Given the description of an element on the screen output the (x, y) to click on. 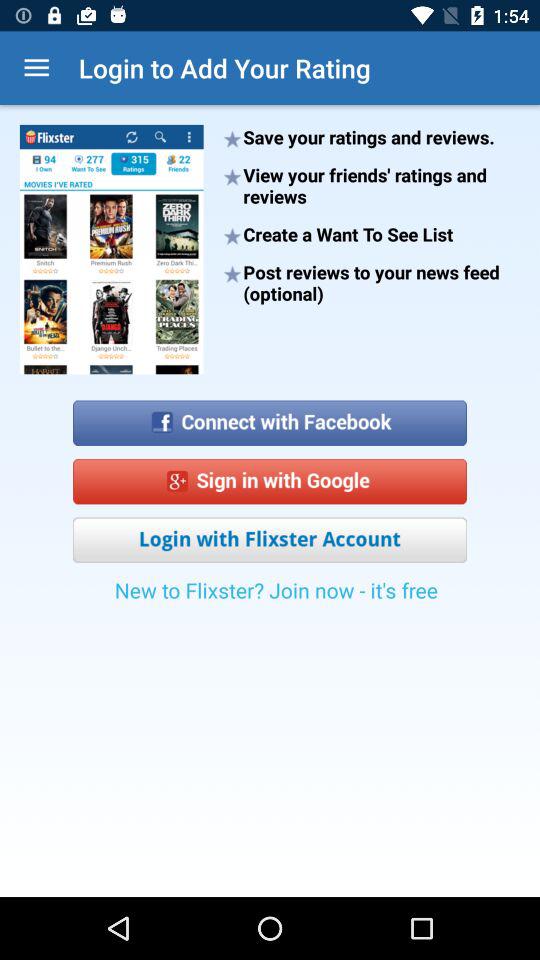
login button (270, 539)
